Given the description of an element on the screen output the (x, y) to click on. 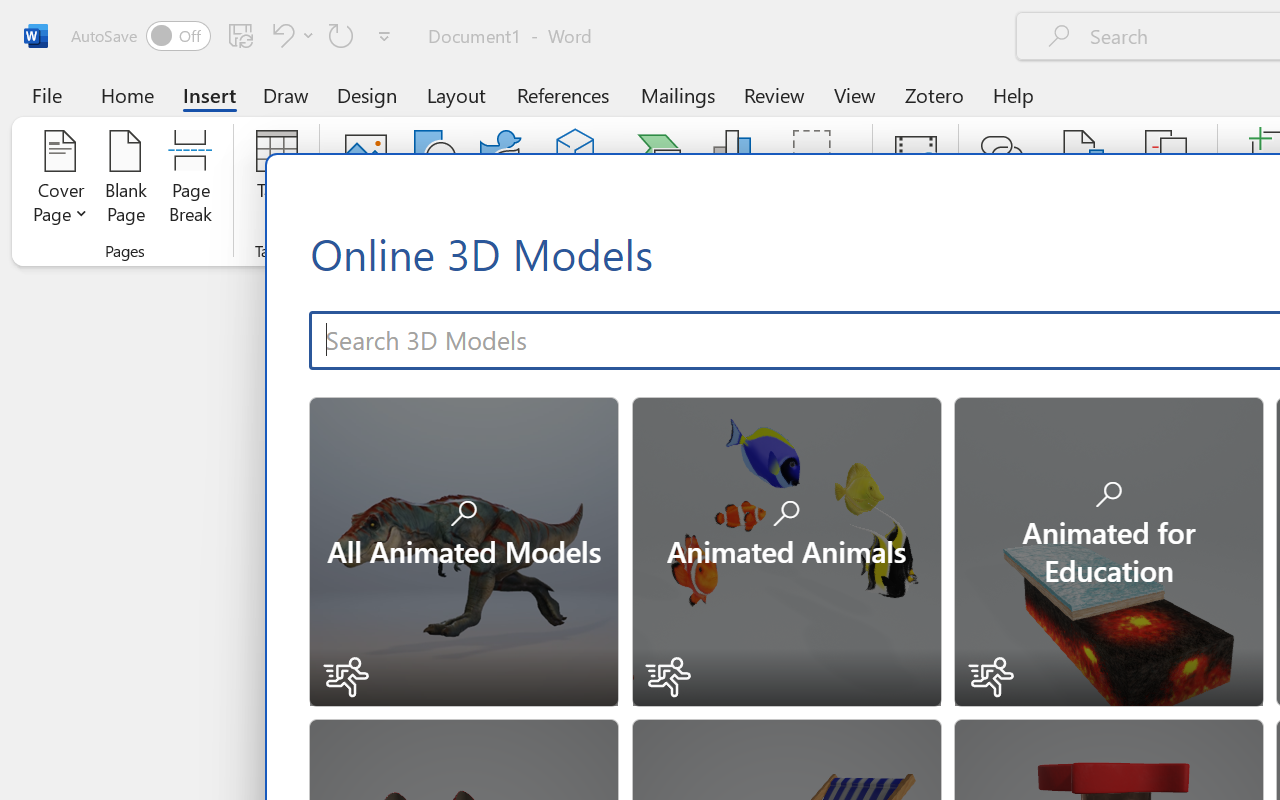
Undo Number Default (280, 35)
Animated for Education (1107, 549)
All Animated Models (463, 549)
Animated Animals (785, 549)
Repeat Doc Close (341, 35)
